Given the description of an element on the screen output the (x, y) to click on. 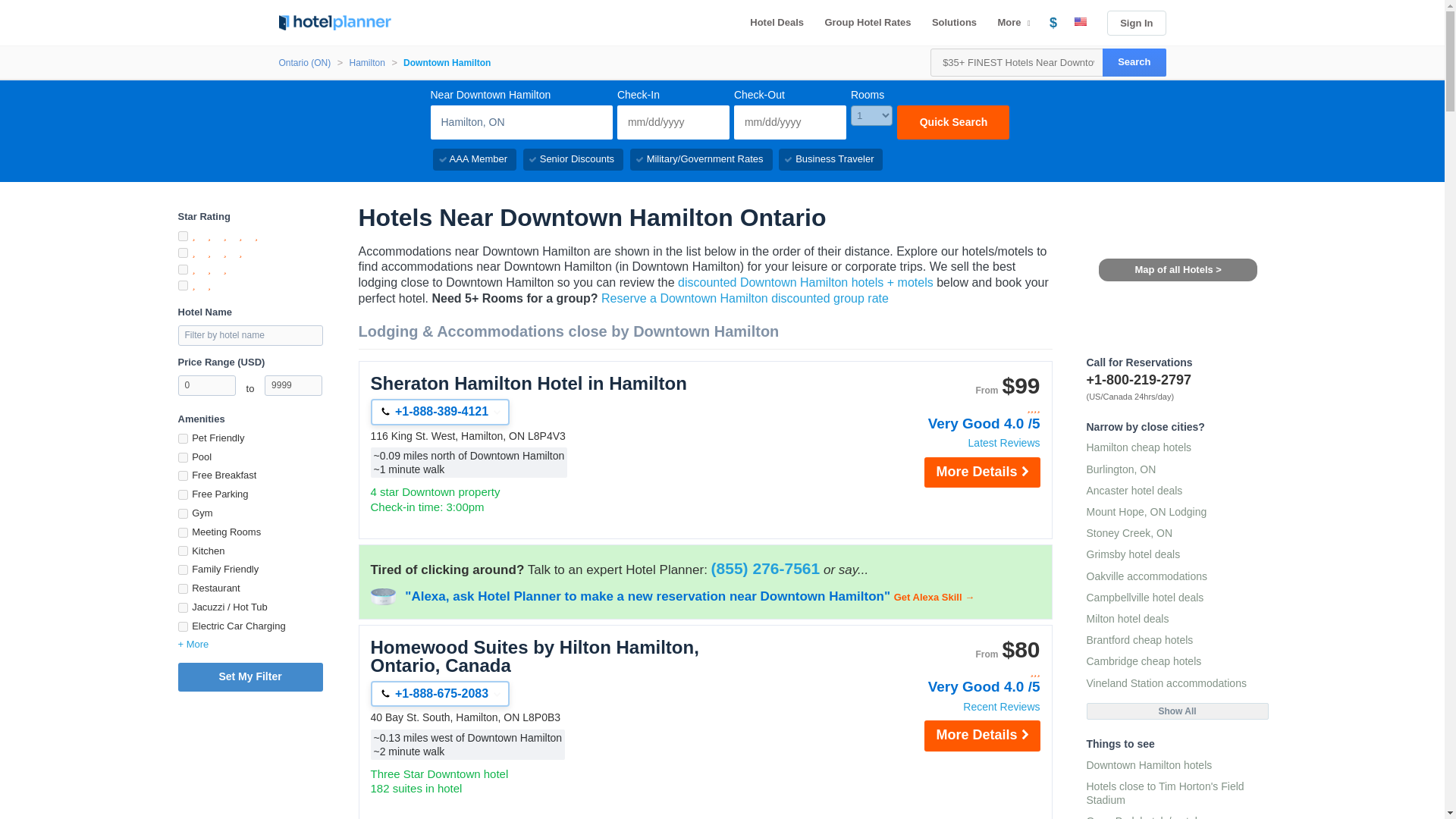
4 stars (958, 408)
Hotel Deals (776, 22)
2131 (182, 532)
1073745198 (182, 569)
81 (182, 551)
5 (182, 235)
40 (182, 438)
0 (205, 385)
4 (182, 252)
Solutions (954, 22)
